Given the description of an element on the screen output the (x, y) to click on. 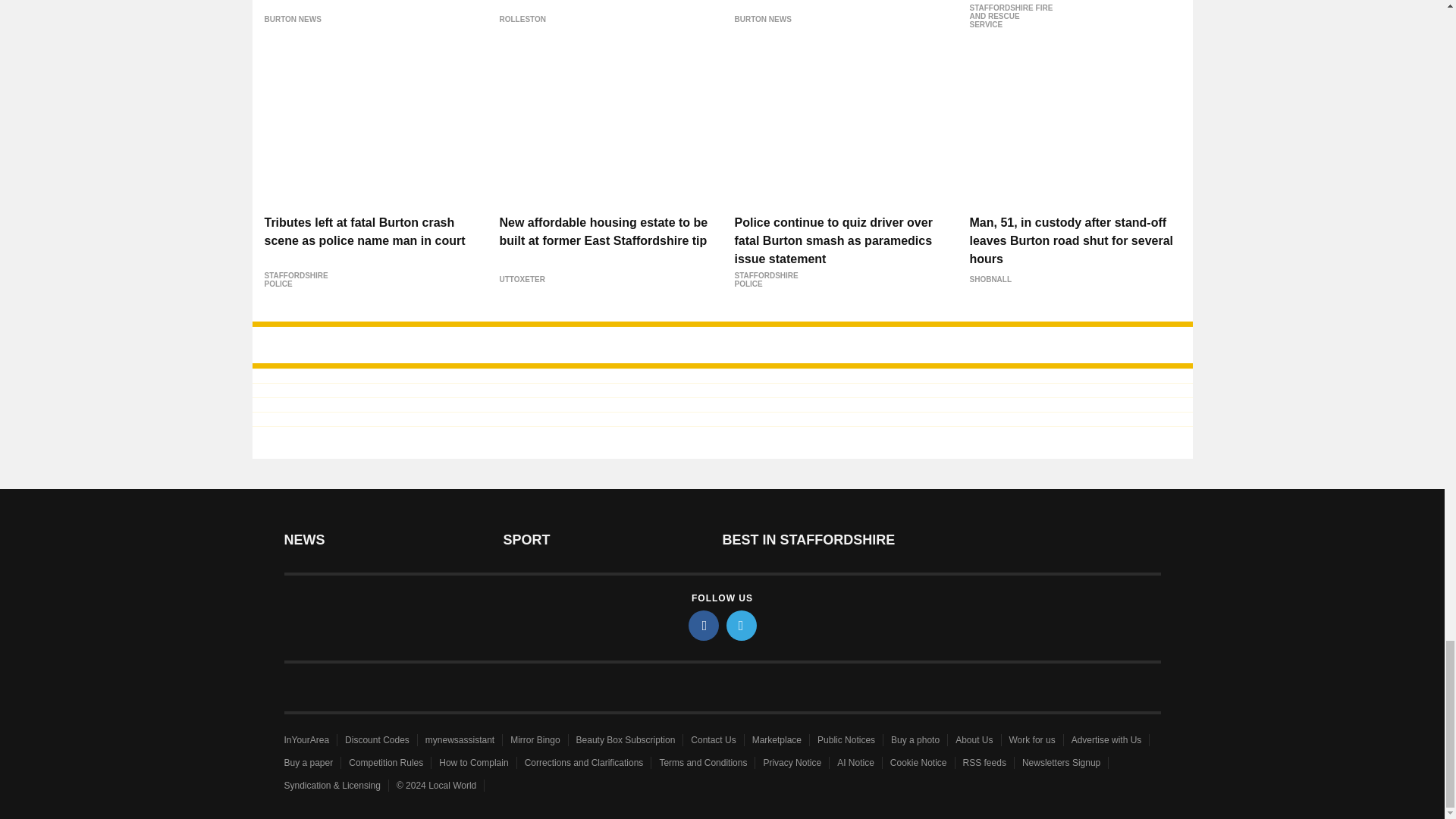
facebook (703, 625)
twitter (741, 625)
